Given the description of an element on the screen output the (x, y) to click on. 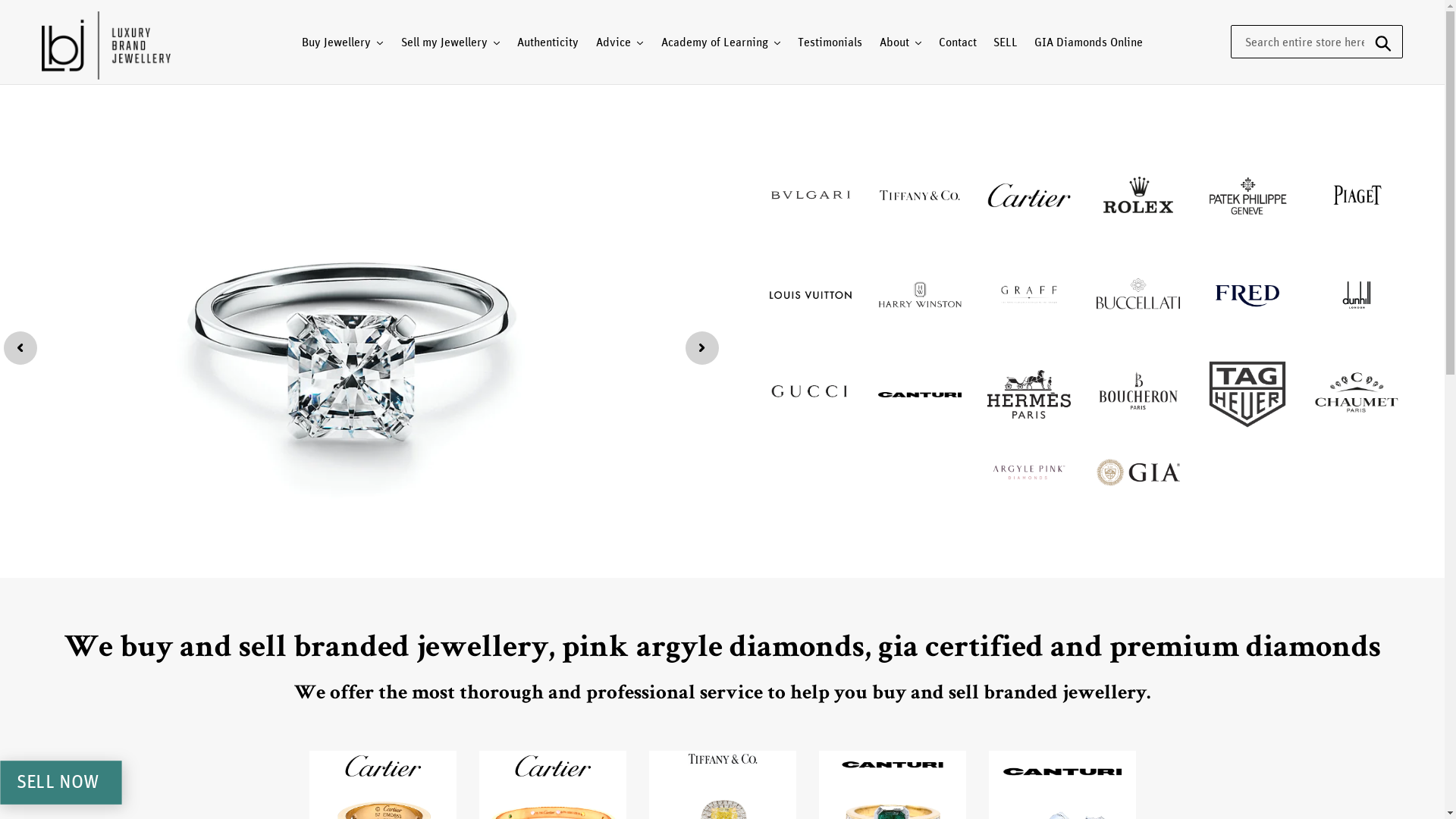
Testimonials Element type: text (829, 41)
Contact Element type: text (957, 41)
Submit Element type: text (1383, 41)
Authenticity Element type: text (547, 41)
SELL Element type: text (1005, 41)
GIA Diamonds Online Element type: text (1088, 41)
